Given the description of an element on the screen output the (x, y) to click on. 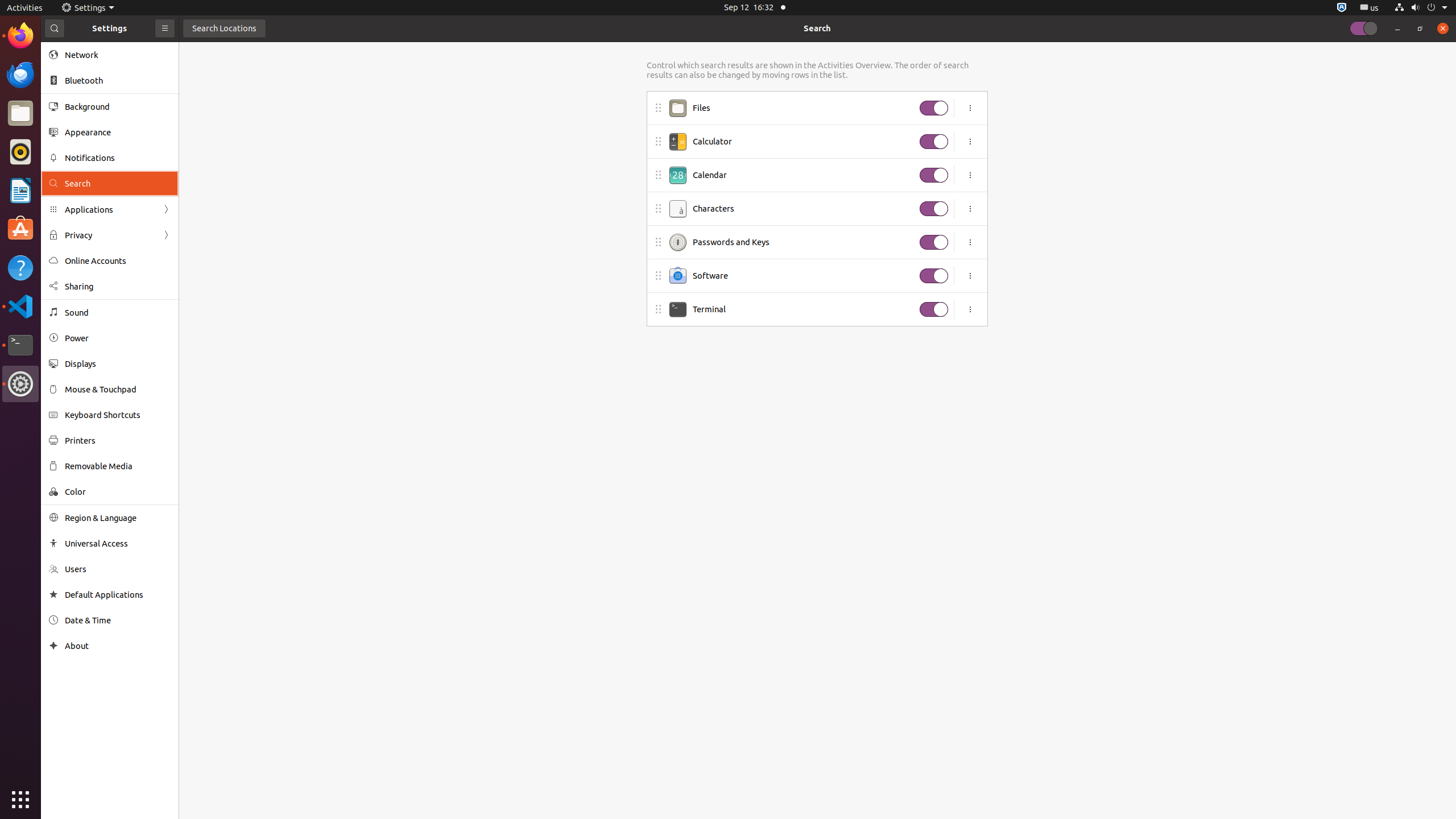
Color Element type: label (117, 491)
Sound Element type: label (117, 312)
Terminal Element type: push-button (20, 344)
Activities Element type: label (24, 7)
Background Element type: label (117, 106)
